Given the description of an element on the screen output the (x, y) to click on. 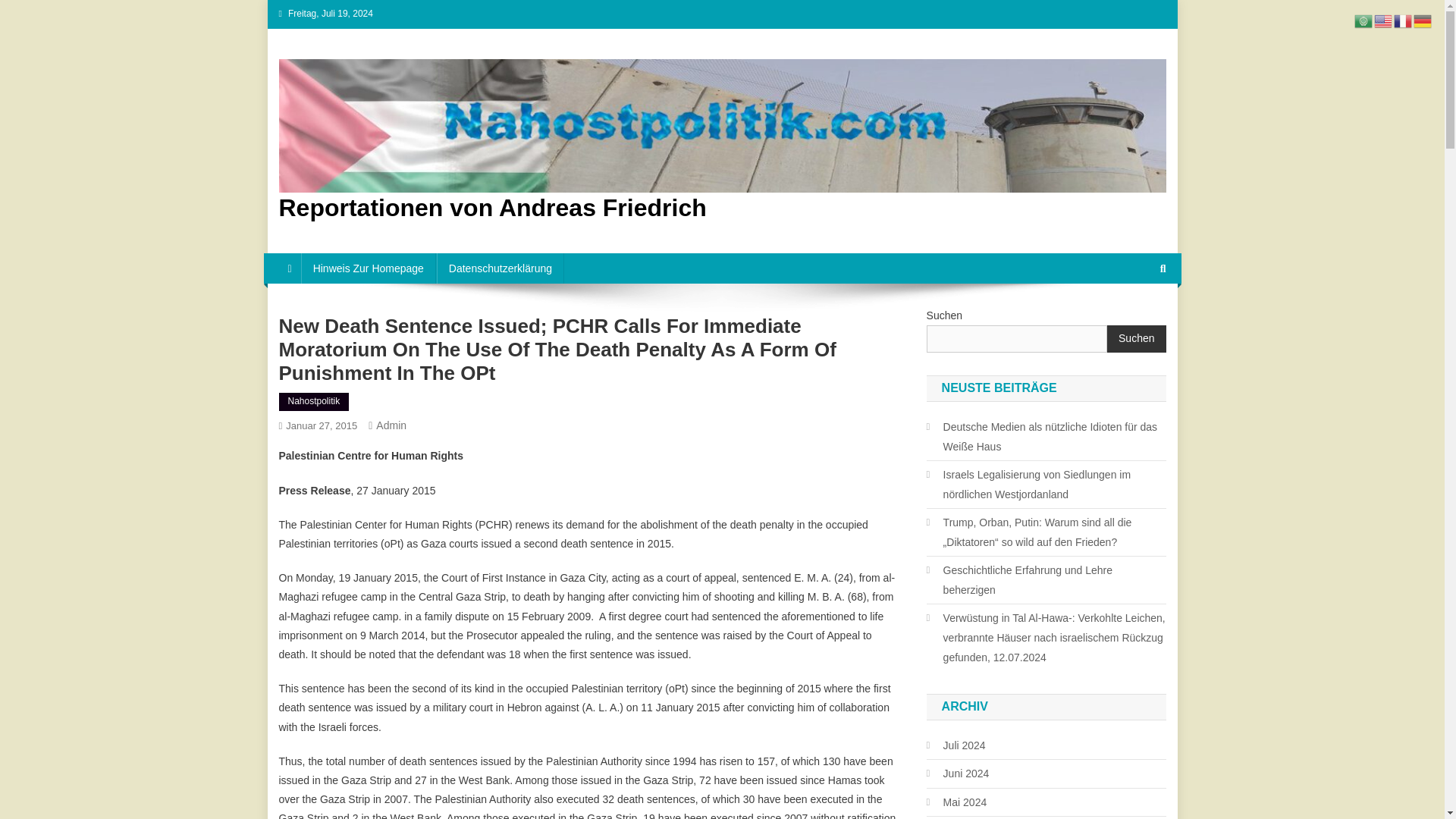
Admin (390, 425)
Reportationen von Andreas Friedrich (492, 207)
French (1403, 20)
German (1422, 20)
Januar 27, 2015 (320, 425)
Suche (1133, 318)
Mai 2024 (956, 802)
Hinweis Zur Homepage (368, 268)
Geschichtliche Erfahrung und Lehre beherzigen (1046, 579)
Juli 2024 (955, 745)
Nahostpolitik (314, 402)
English (1383, 20)
Arabic (1364, 20)
Juni 2024 (958, 772)
Suchen (1136, 338)
